Given the description of an element on the screen output the (x, y) to click on. 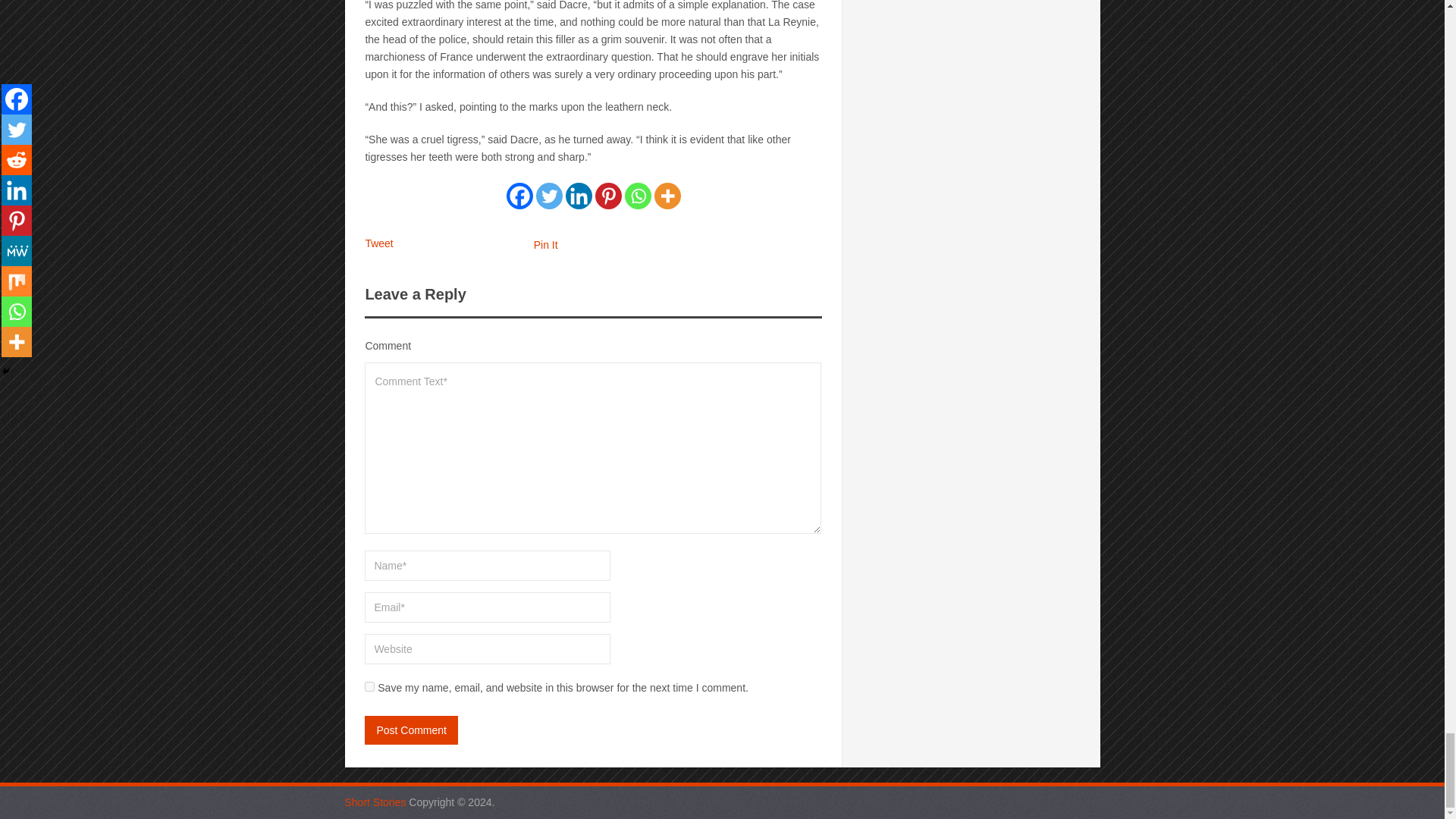
Facebook (519, 195)
Post Comment (411, 729)
Pinterest (608, 195)
More (667, 195)
yes (369, 686)
Whatsapp (637, 195)
Twitter (548, 195)
Linkedin (579, 195)
